Given the description of an element on the screen output the (x, y) to click on. 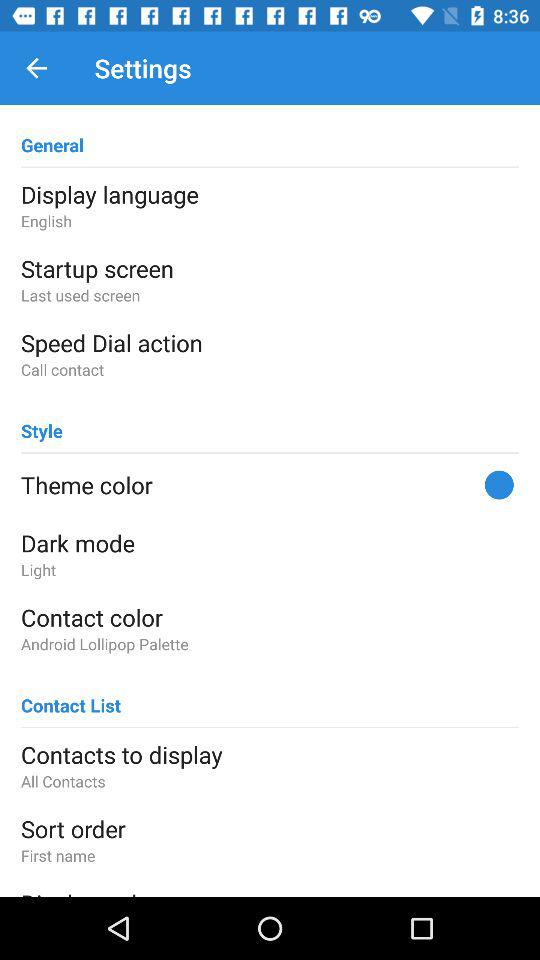
choose icon above the contact color item (270, 569)
